Given the description of an element on the screen output the (x, y) to click on. 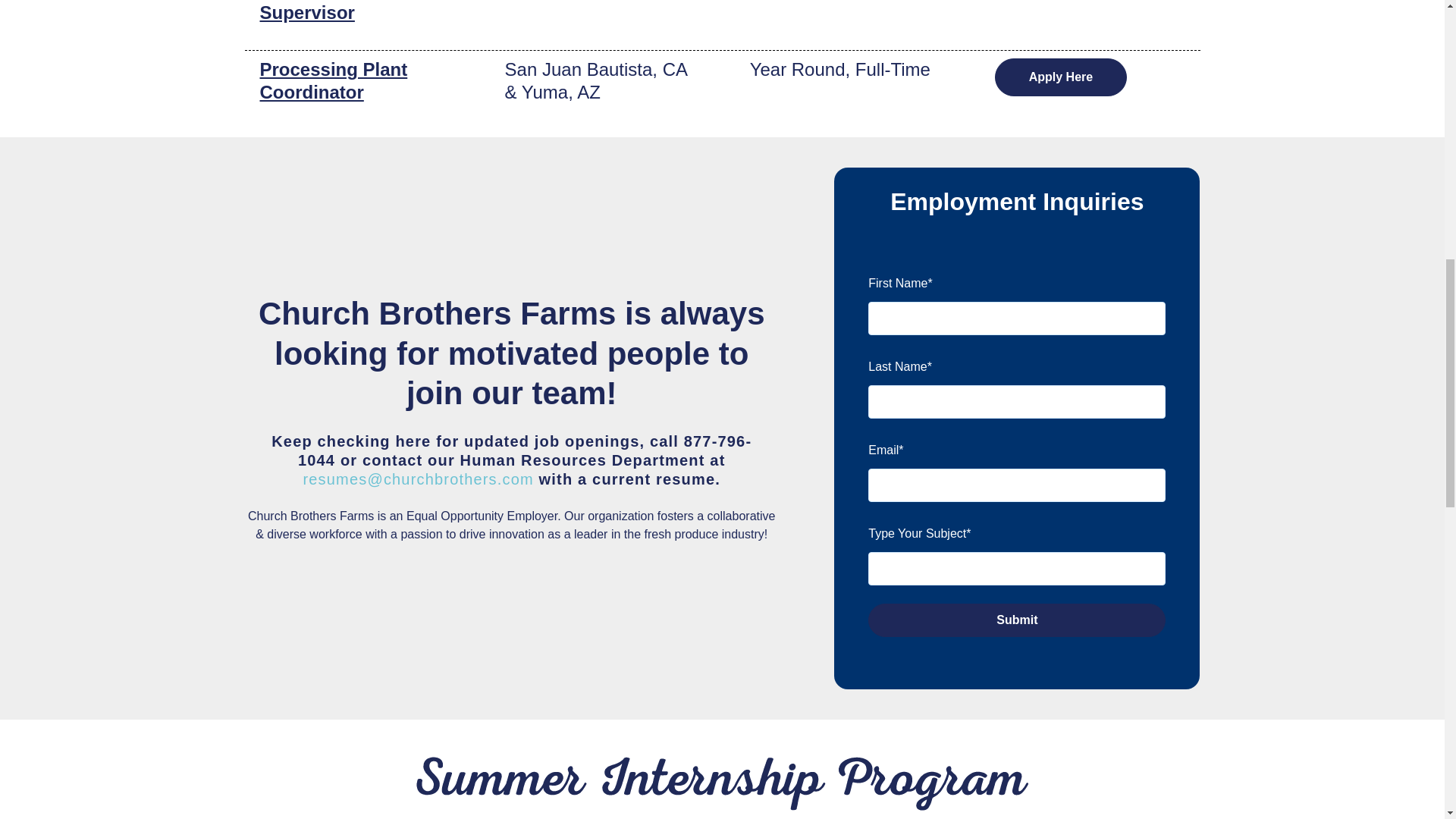
Apply Here (1060, 77)
Senior Quality Assurance Supervisor (320, 11)
summer-internship-program (721, 783)
Submit (1016, 620)
Processing Plant Coordinator (333, 80)
Submit (1016, 620)
